Given the description of an element on the screen output the (x, y) to click on. 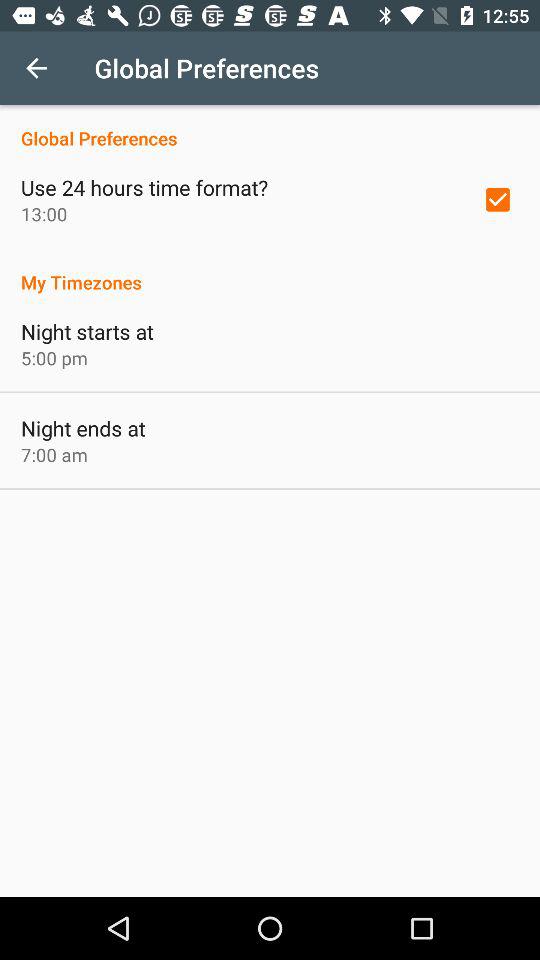
tap icon to the right of use 24 hours item (497, 199)
